Given the description of an element on the screen output the (x, y) to click on. 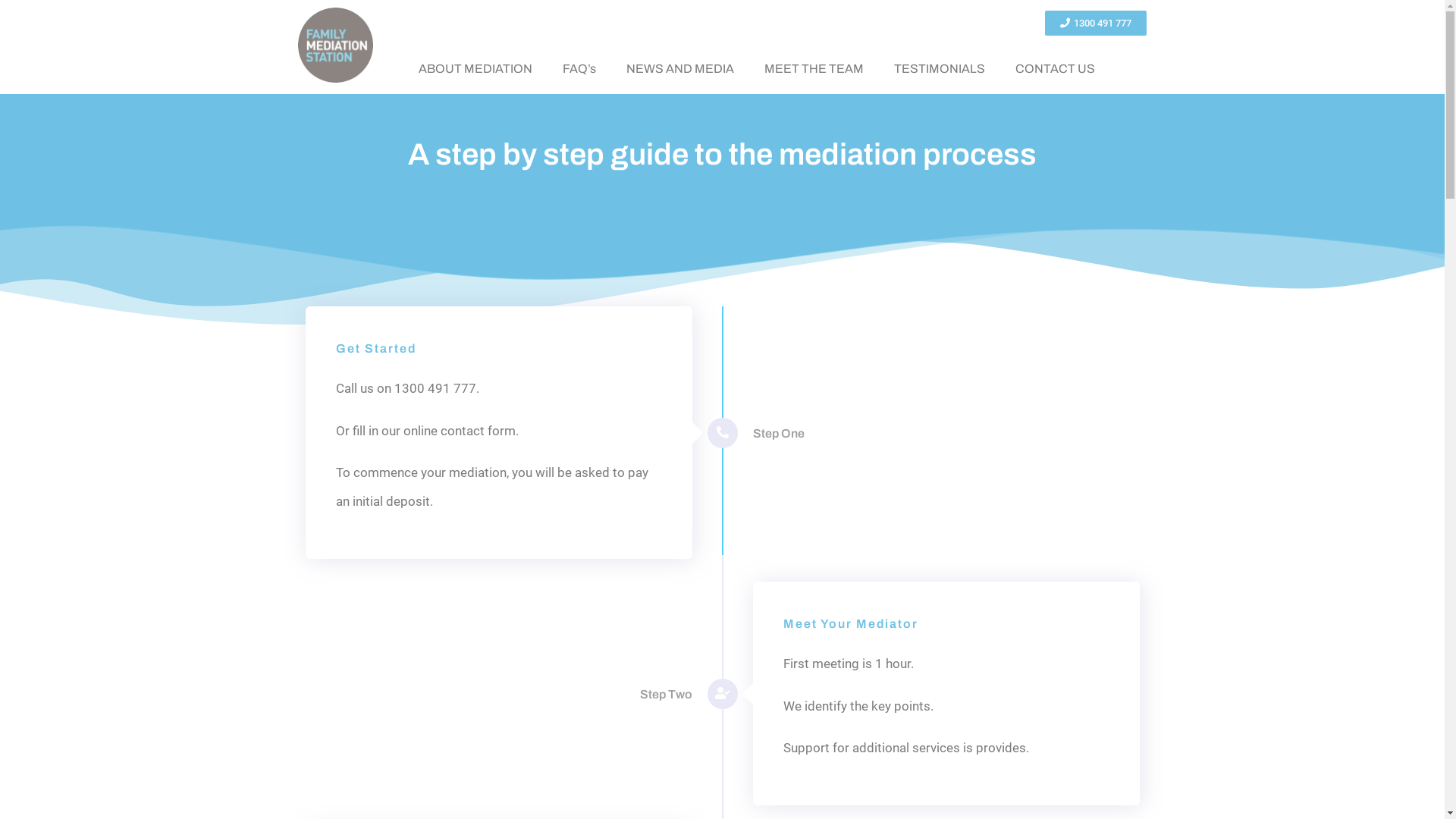
CONTACT US Element type: text (1054, 68)
MEET THE TEAM Element type: text (813, 68)
TESTIMONIALS Element type: text (938, 68)
ABOUT MEDIATION Element type: text (475, 68)
NEWS AND MEDIA Element type: text (680, 68)
1300 491 777 Element type: text (1095, 22)
